Given the description of an element on the screen output the (x, y) to click on. 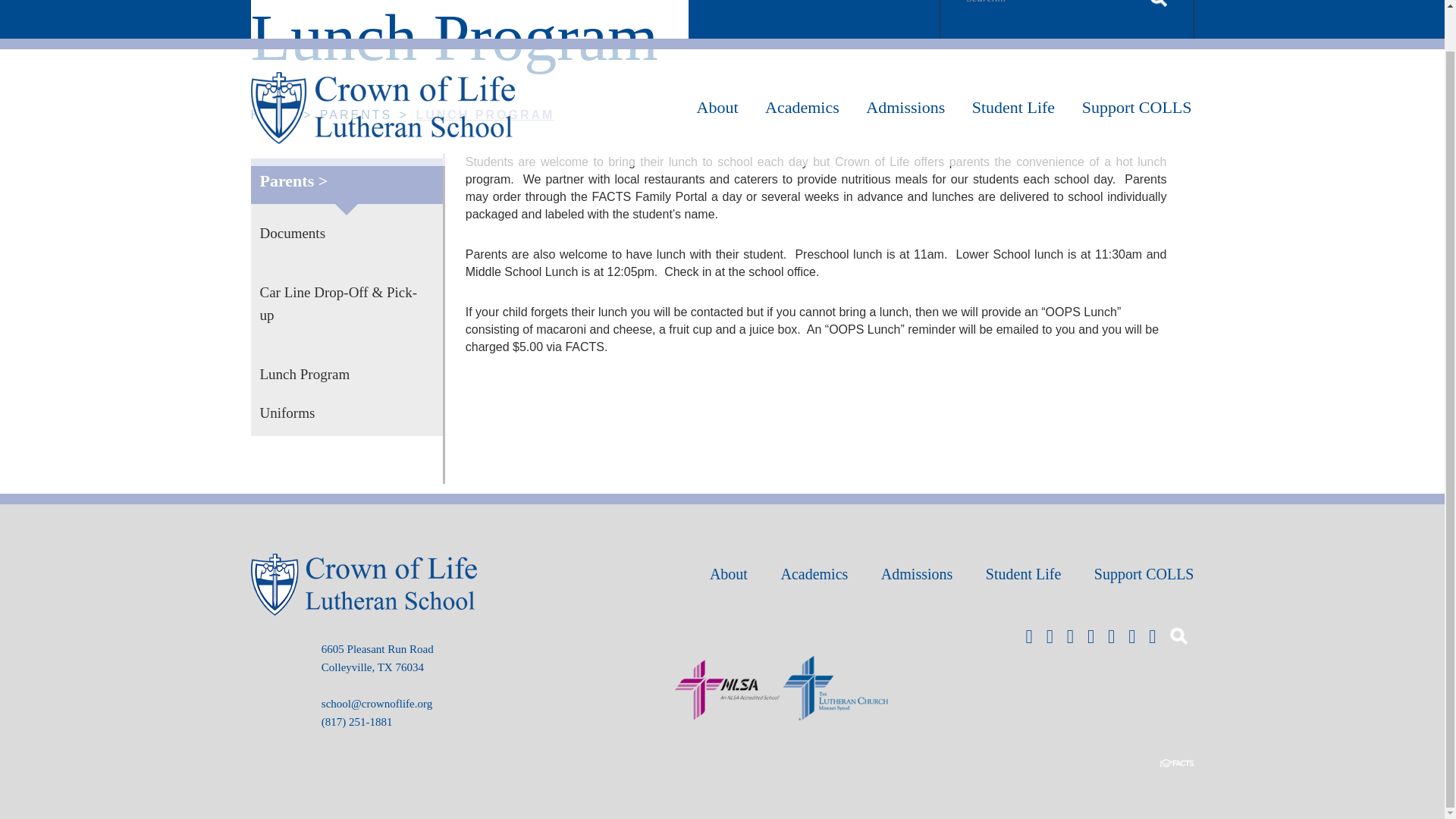
About (717, 108)
TOUR (269, 2)
APPLY NOW (356, 2)
PARENTS (528, 2)
FACTS (446, 2)
Academics (801, 108)
